Given the description of an element on the screen output the (x, y) to click on. 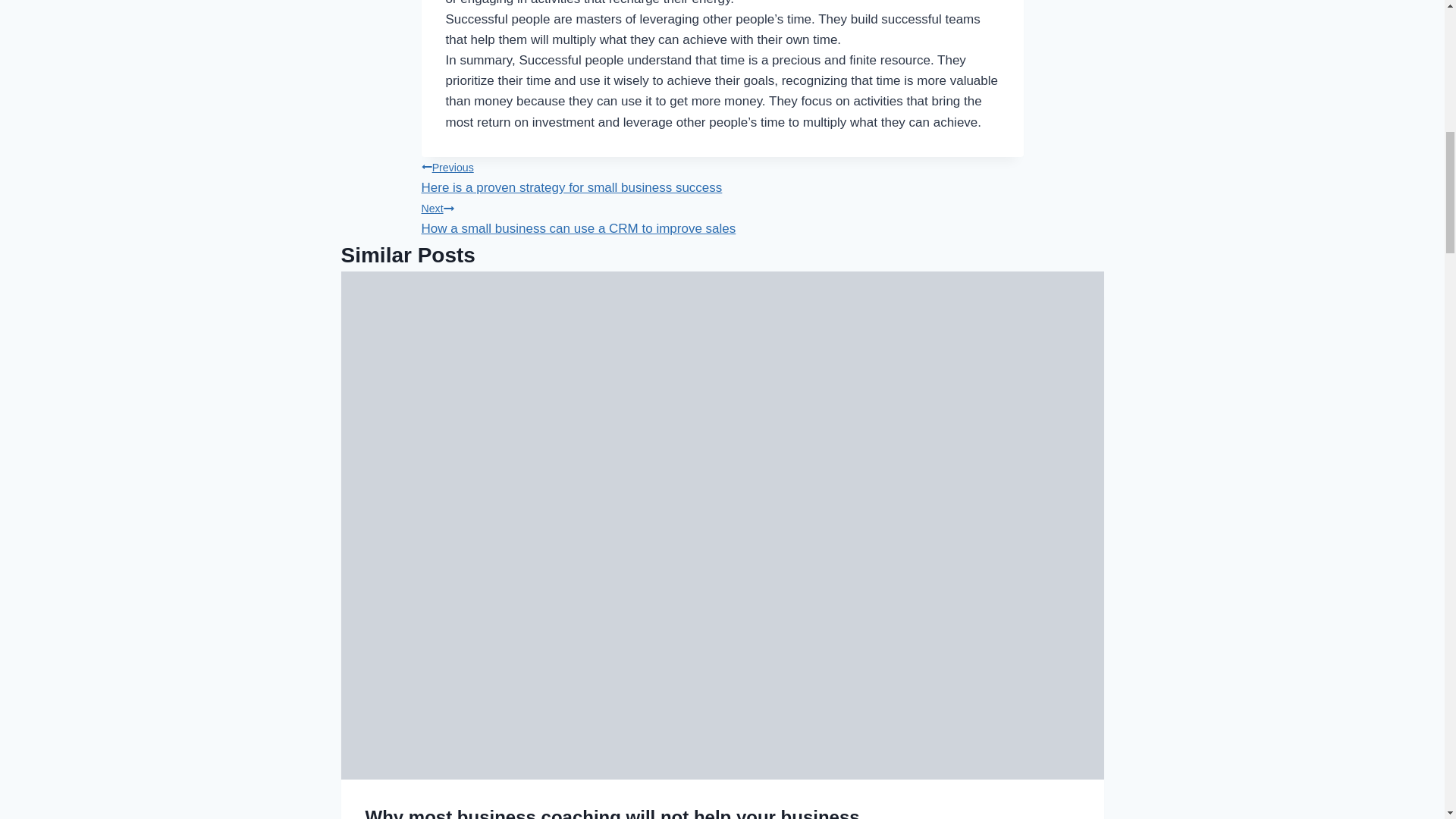
Why most business coaching will not help your business. (614, 812)
